Given the description of an element on the screen output the (x, y) to click on. 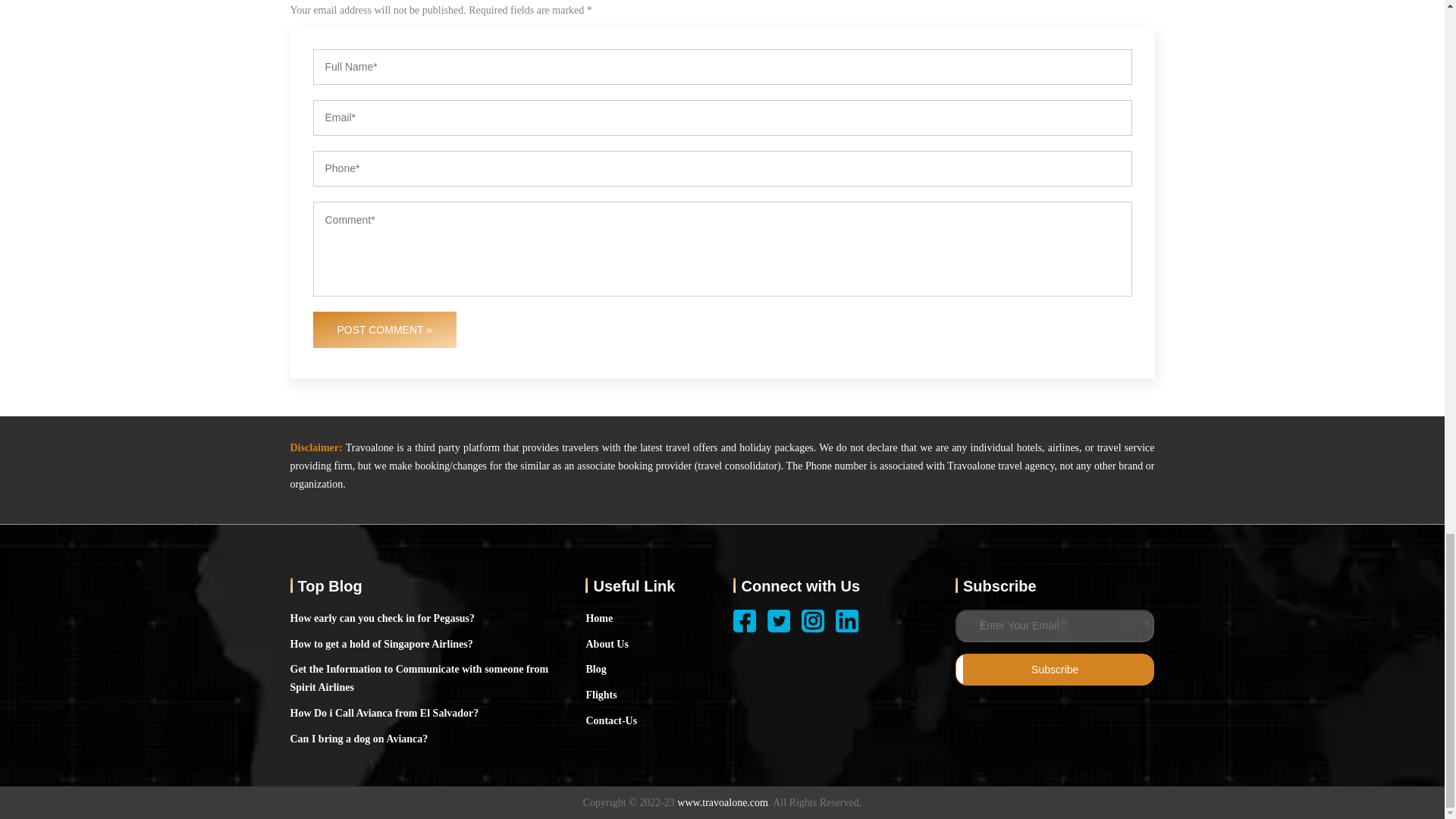
Can I bring a dog on Avianca? (358, 739)
How Do i Call Avianca from El Salvador? (384, 713)
www.travoalone.com (722, 802)
How early can you check in for Pegasus? (381, 618)
Contact-Us (611, 720)
How to get a hold of Singapore Airlines? (380, 644)
Blog (595, 669)
About Us (606, 644)
Home (598, 618)
